Given the description of an element on the screen output the (x, y) to click on. 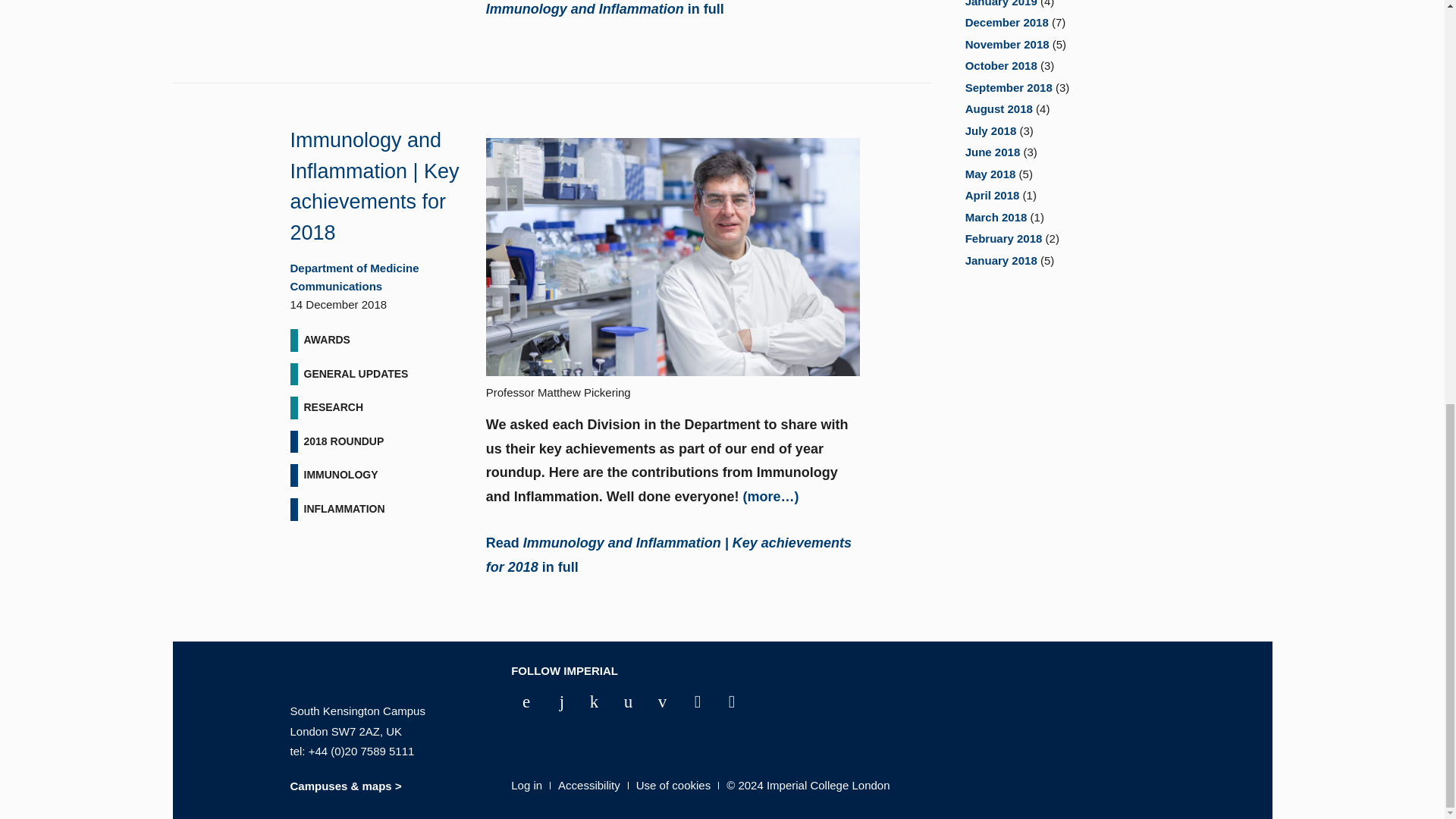
Department of Medicine Communications (354, 276)
View all posts in immunology (340, 475)
View all posts in General updates (355, 374)
RESEARCH (333, 407)
Posts by Department of Medicine Communications (354, 276)
View all posts in Research (333, 407)
AWARDS (326, 340)
IMMUNOLOGY (340, 475)
View all posts in 2018 Roundup (343, 441)
